Given the description of an element on the screen output the (x, y) to click on. 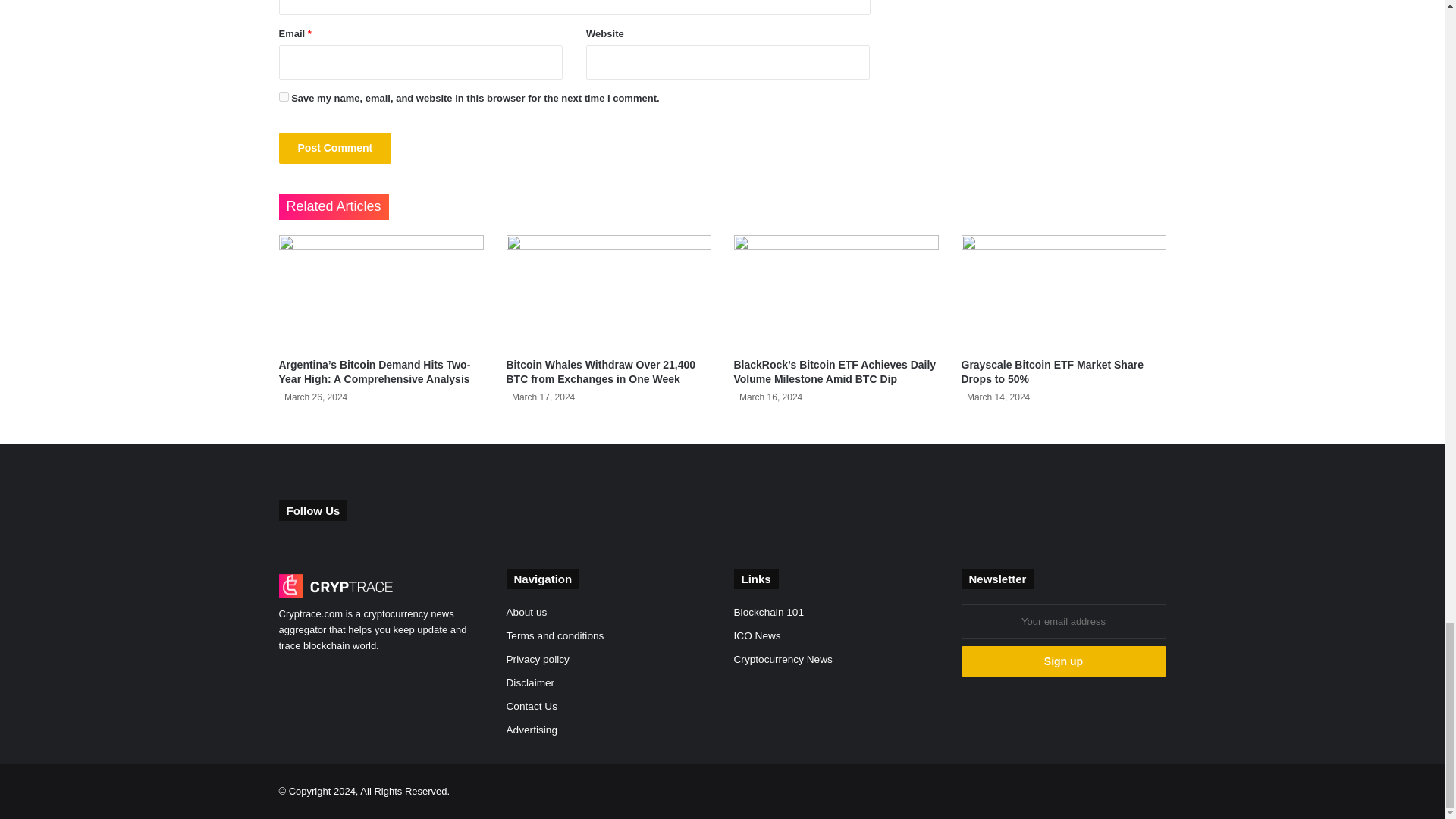
Post Comment (335, 147)
Sign up (1063, 661)
yes (283, 96)
